Given the description of an element on the screen output the (x, y) to click on. 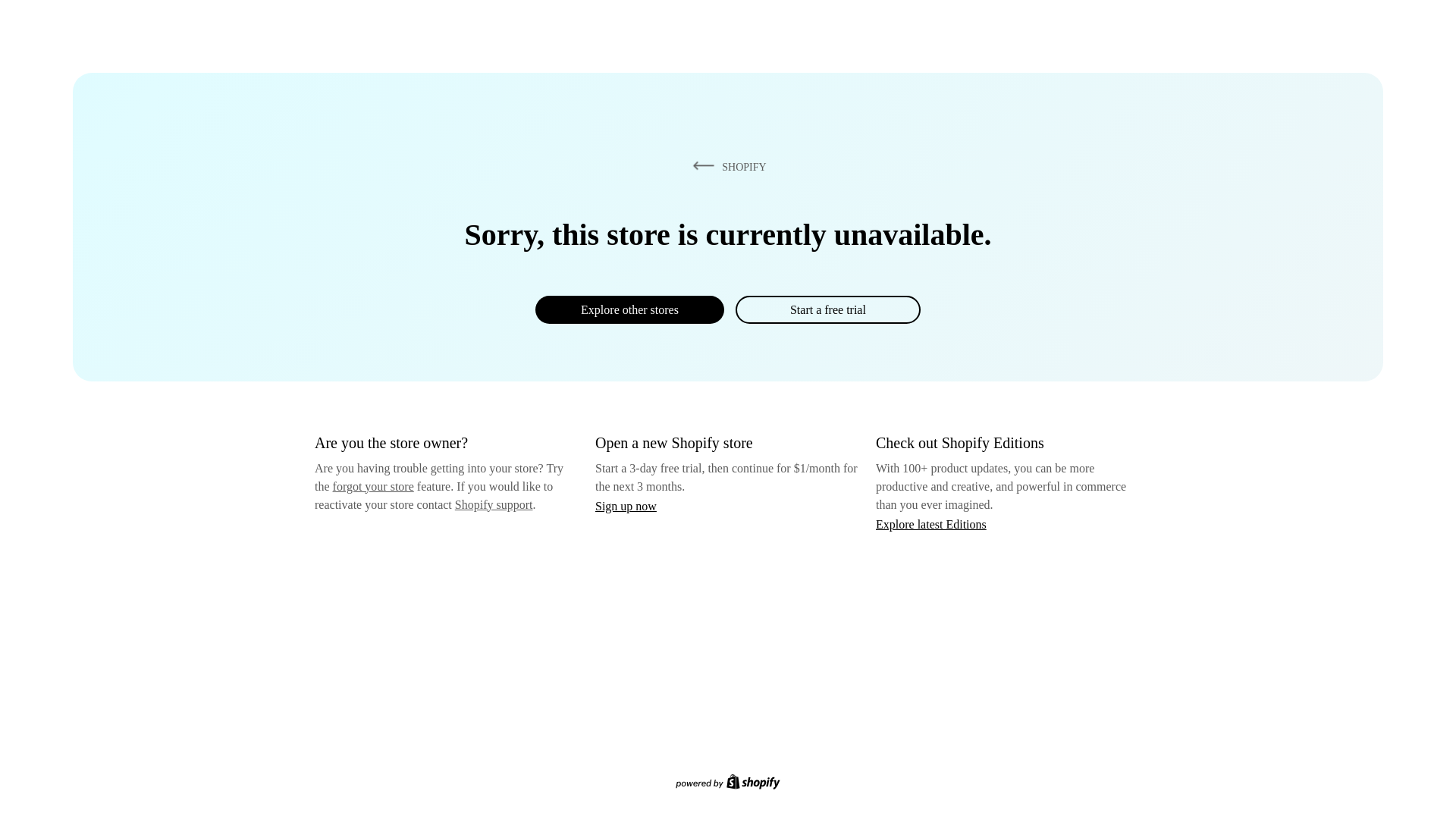
Explore other stores (629, 309)
Explore latest Editions (931, 523)
SHOPIFY (726, 166)
Shopify support (493, 504)
Sign up now (625, 505)
forgot your store (373, 486)
Start a free trial (827, 309)
